Given the description of an element on the screen output the (x, y) to click on. 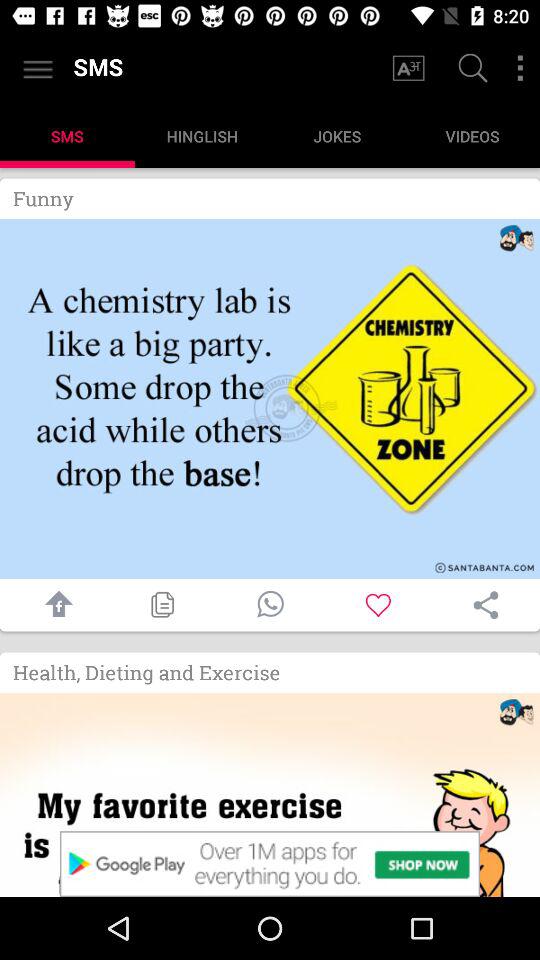
favorite image (378, 604)
